Given the description of an element on the screen output the (x, y) to click on. 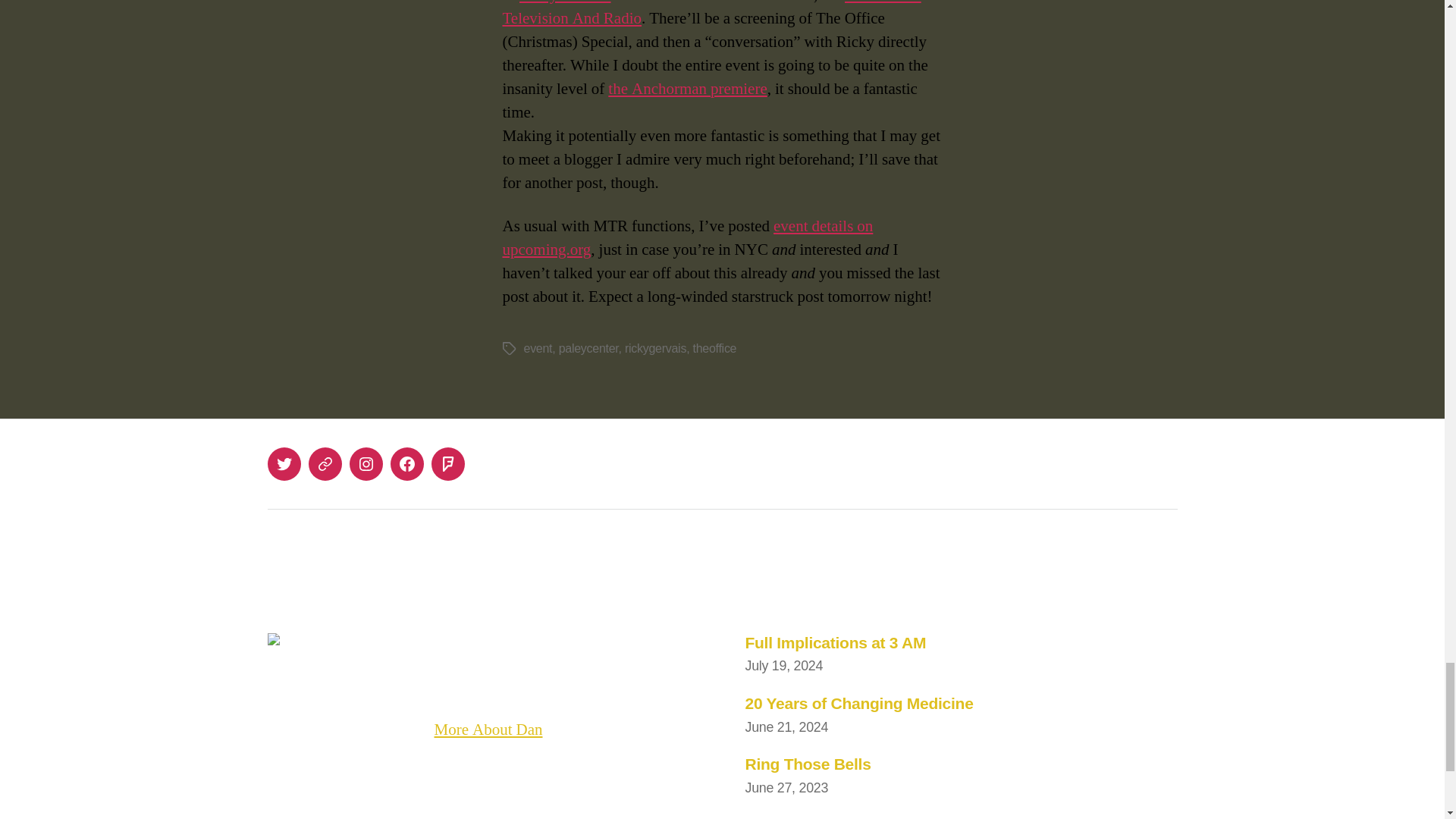
My personal Twitter account. Private. (282, 463)
My Foursquare account. Lots of lists. (447, 463)
My Instagram account. Private. (365, 463)
